Given the description of an element on the screen output the (x, y) to click on. 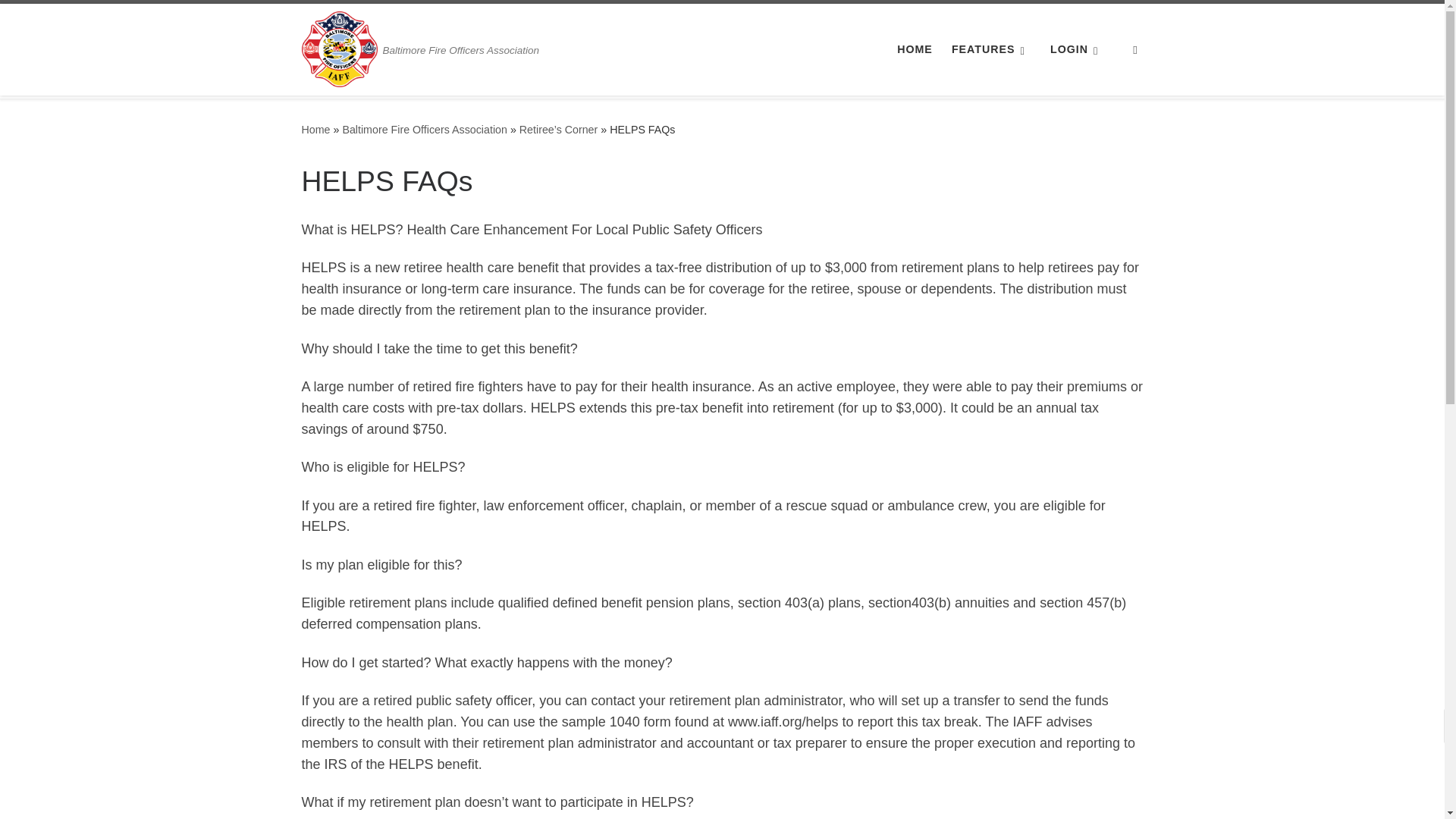
FEATURES (991, 49)
HOME (914, 49)
Skip to content (60, 20)
Baltimore Fire Officers Association (315, 128)
Baltimore Fire Officers Association (424, 128)
